Given the description of an element on the screen output the (x, y) to click on. 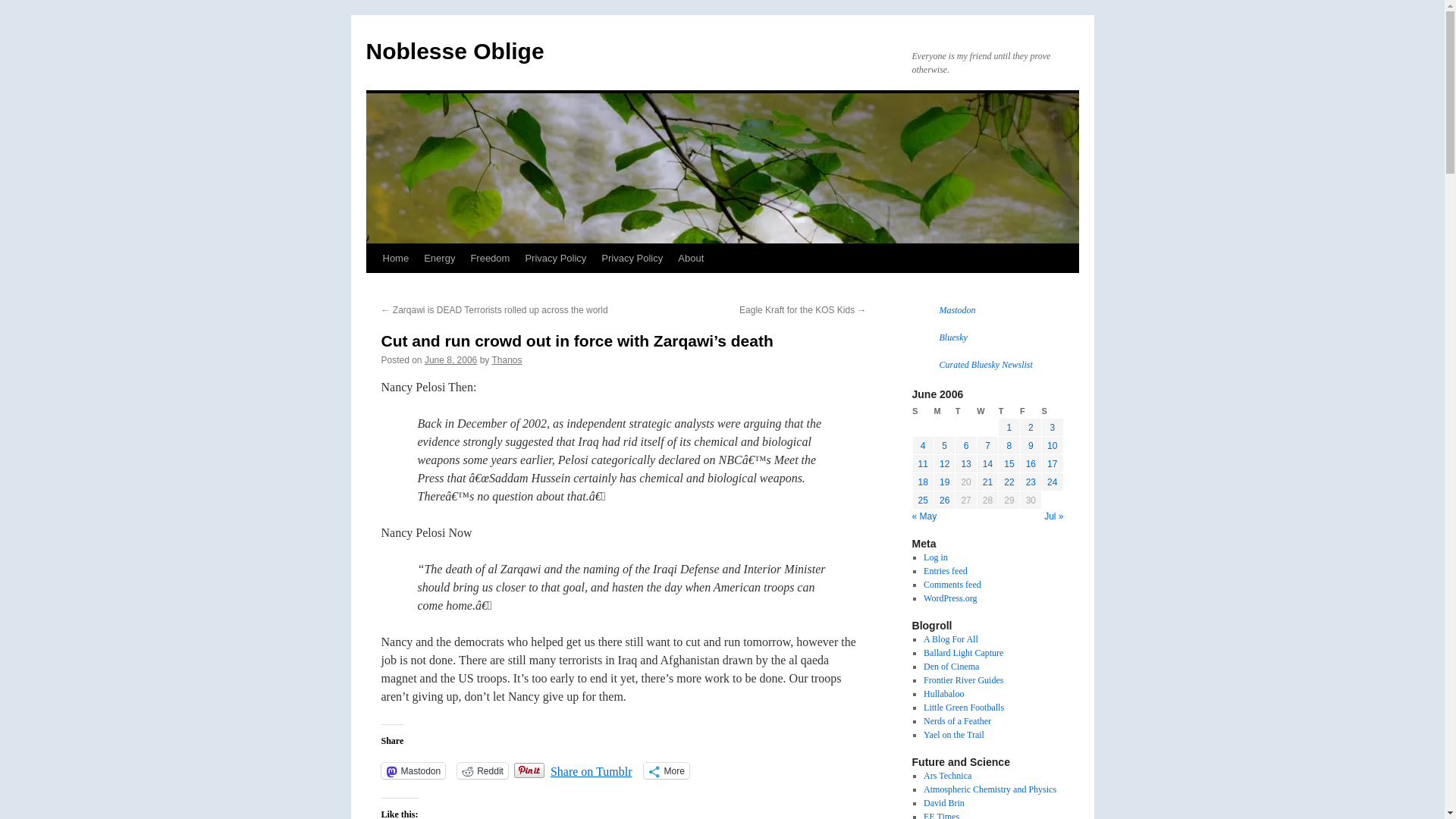
5:39 pm (451, 359)
Privacy Policy (631, 258)
June 8, 2006 (451, 359)
Share on Tumblr (590, 769)
Tuesday (965, 411)
Freedom (489, 258)
More (665, 770)
Privacy Policy (555, 258)
Sunday (922, 411)
View all posts by Thanos (506, 359)
